Given the description of an element on the screen output the (x, y) to click on. 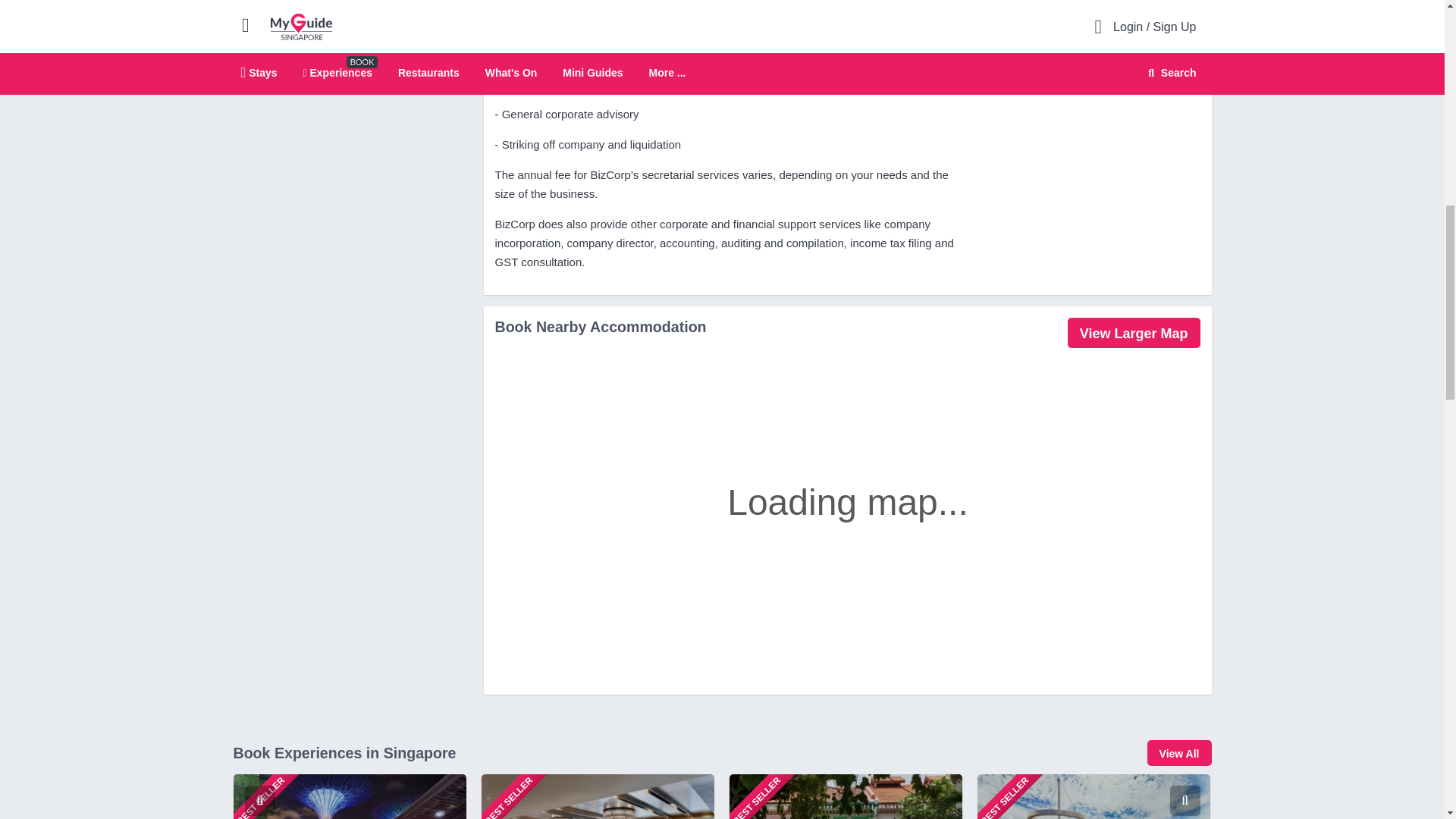
Larger Map for Company: Bizcorp Management Singapore (1133, 332)
